Given the description of an element on the screen output the (x, y) to click on. 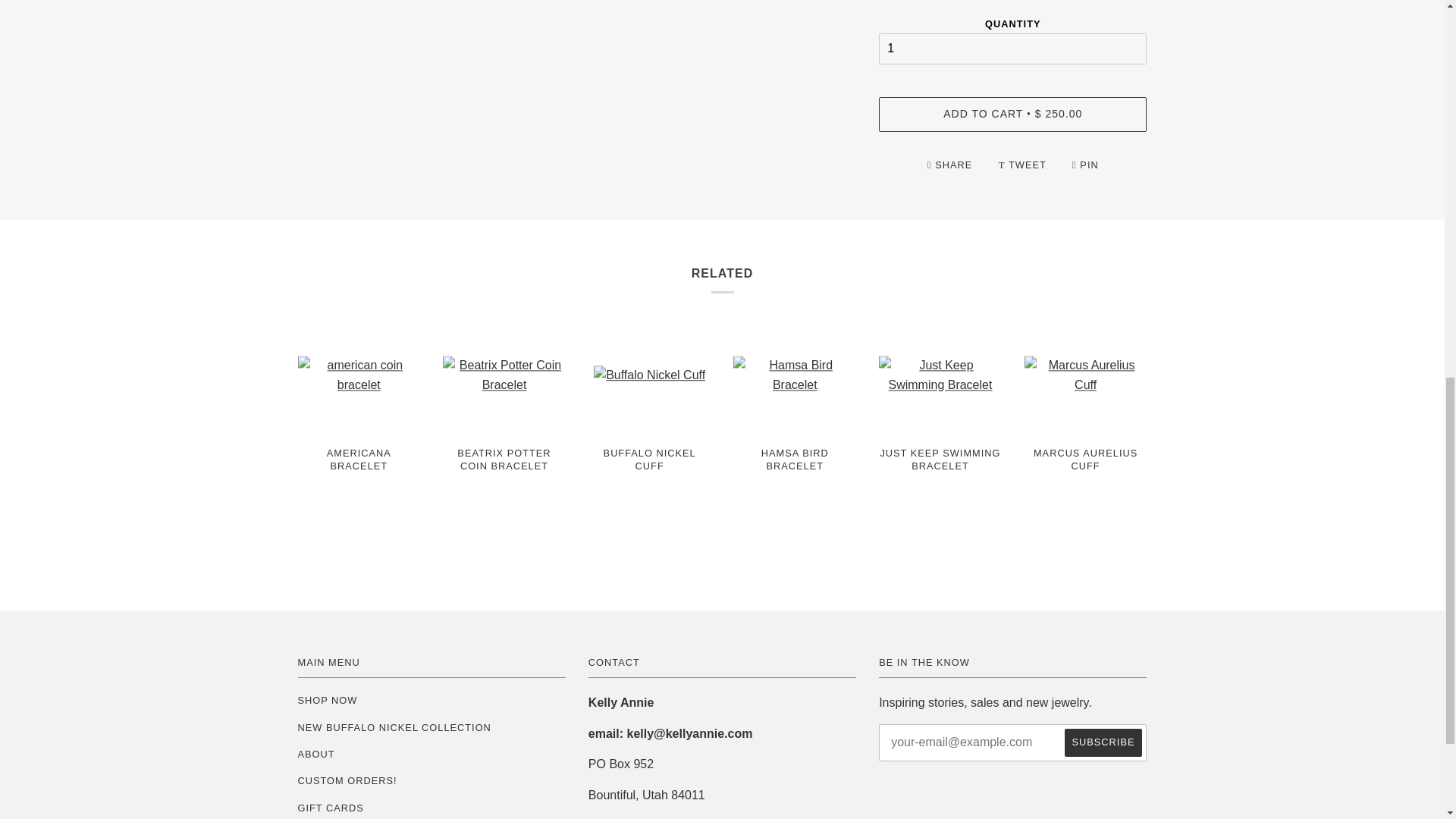
TWEET (1023, 164)
BUFFALO NICKEL CUFF (649, 473)
JUST KEEP SWIMMING BRACELET (940, 473)
AMERICANA BRACELET (358, 473)
SHARE (951, 164)
PIN (1085, 164)
1 (1013, 48)
HAMSA BIRD BRACELET (794, 473)
MARCUS AURELIUS CUFF (1086, 483)
SHOP NOW (326, 699)
BEATRIX POTTER COIN BRACELET (504, 473)
Subscribe (1103, 742)
